Given the description of an element on the screen output the (x, y) to click on. 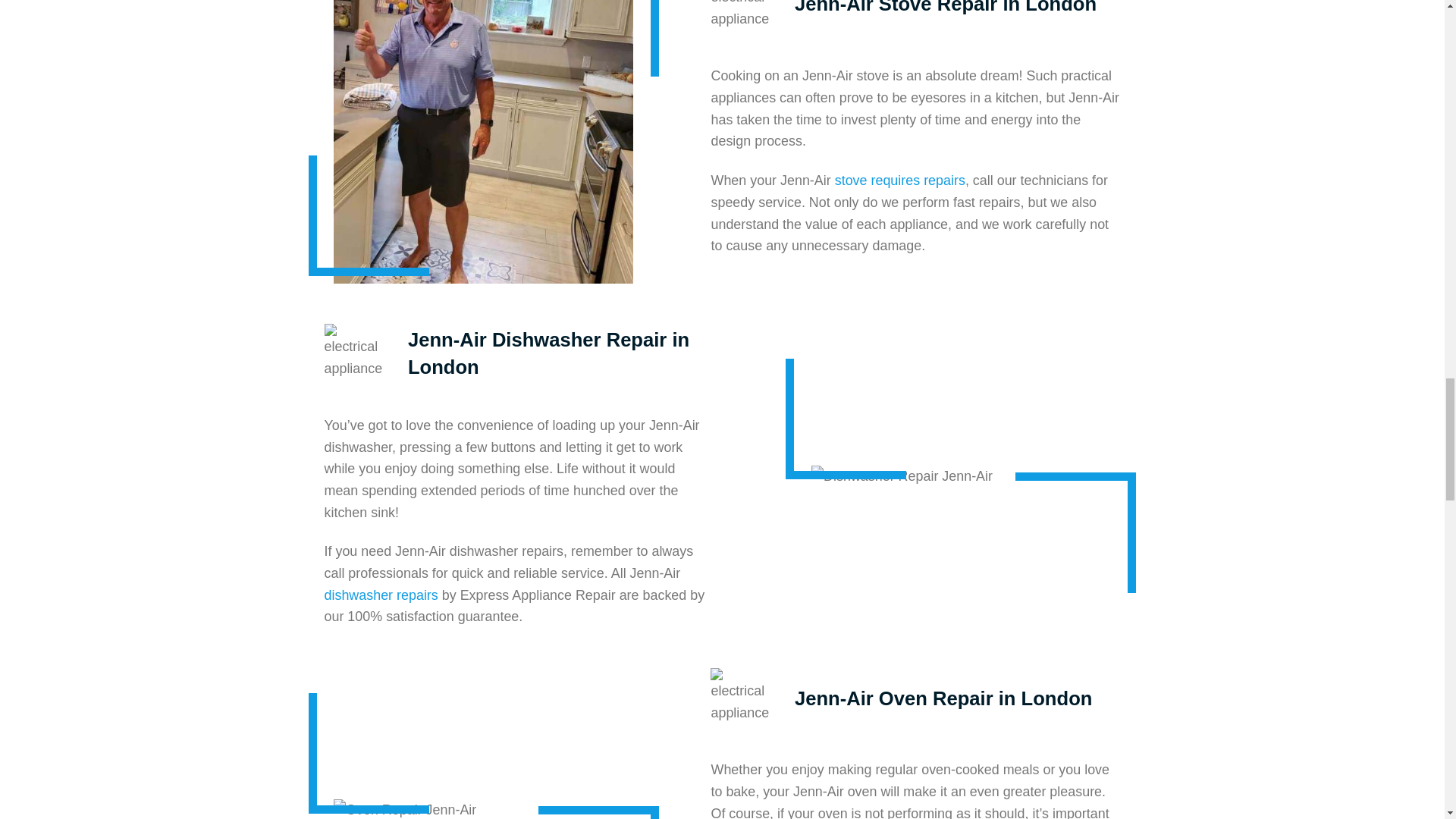
Jenn-Air Dishwasher Repair (901, 476)
Jenn-Air Stove Repair (483, 141)
Jenn-Air Oven Repair (404, 809)
dishwasher repairs (381, 595)
stove requires repairs (899, 180)
